Given the description of an element on the screen output the (x, y) to click on. 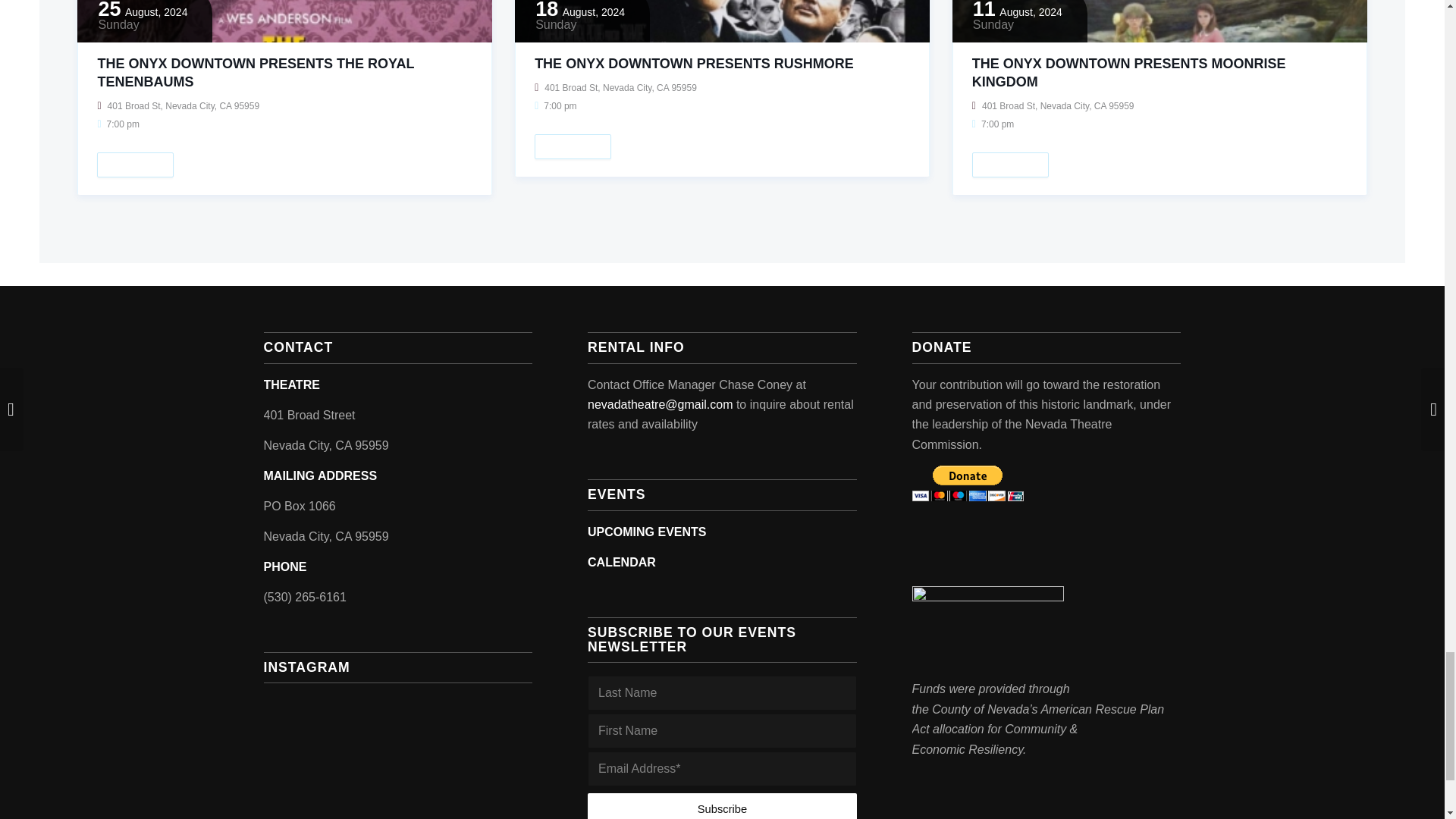
THE ONYX DOWNTOWN PRESENTS MOONRISE KINGDOM (1128, 72)
VIEW DETAIL (135, 164)
THE ONYX DOWNTOWN PRESENTS THE ROYAL TENENBAUMS (255, 72)
VIEW DETAIL (1010, 164)
Subscribe (722, 806)
VIEW DETAIL (572, 146)
THE ONYX DOWNTOWN PRESENTS RUSHMORE (693, 63)
